Given the description of an element on the screen output the (x, y) to click on. 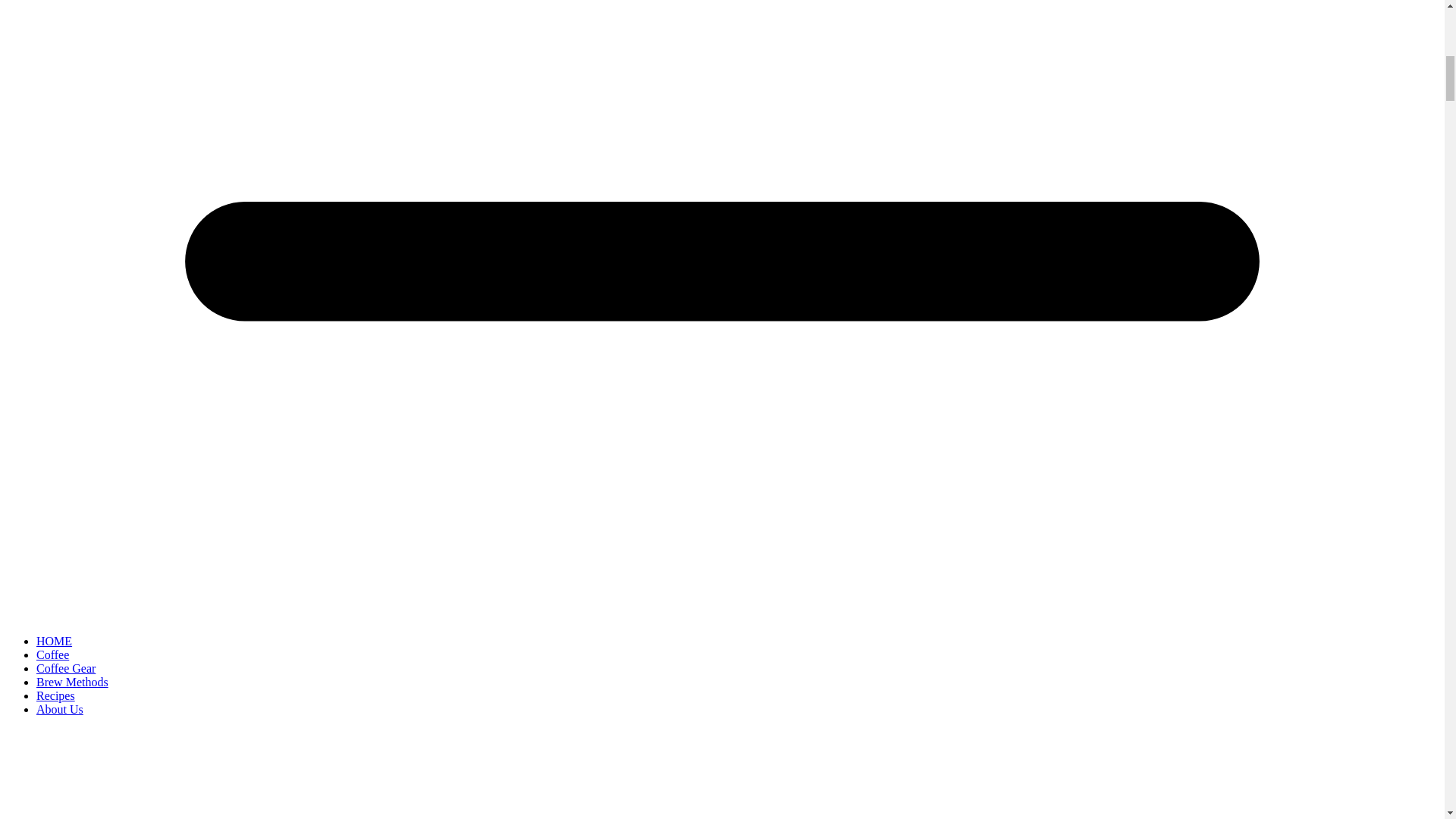
About Us (59, 708)
Coffee Gear (66, 667)
Coffee (52, 654)
Brew Methods (71, 681)
Recipes (55, 695)
HOME (53, 640)
